Given the description of an element on the screen output the (x, y) to click on. 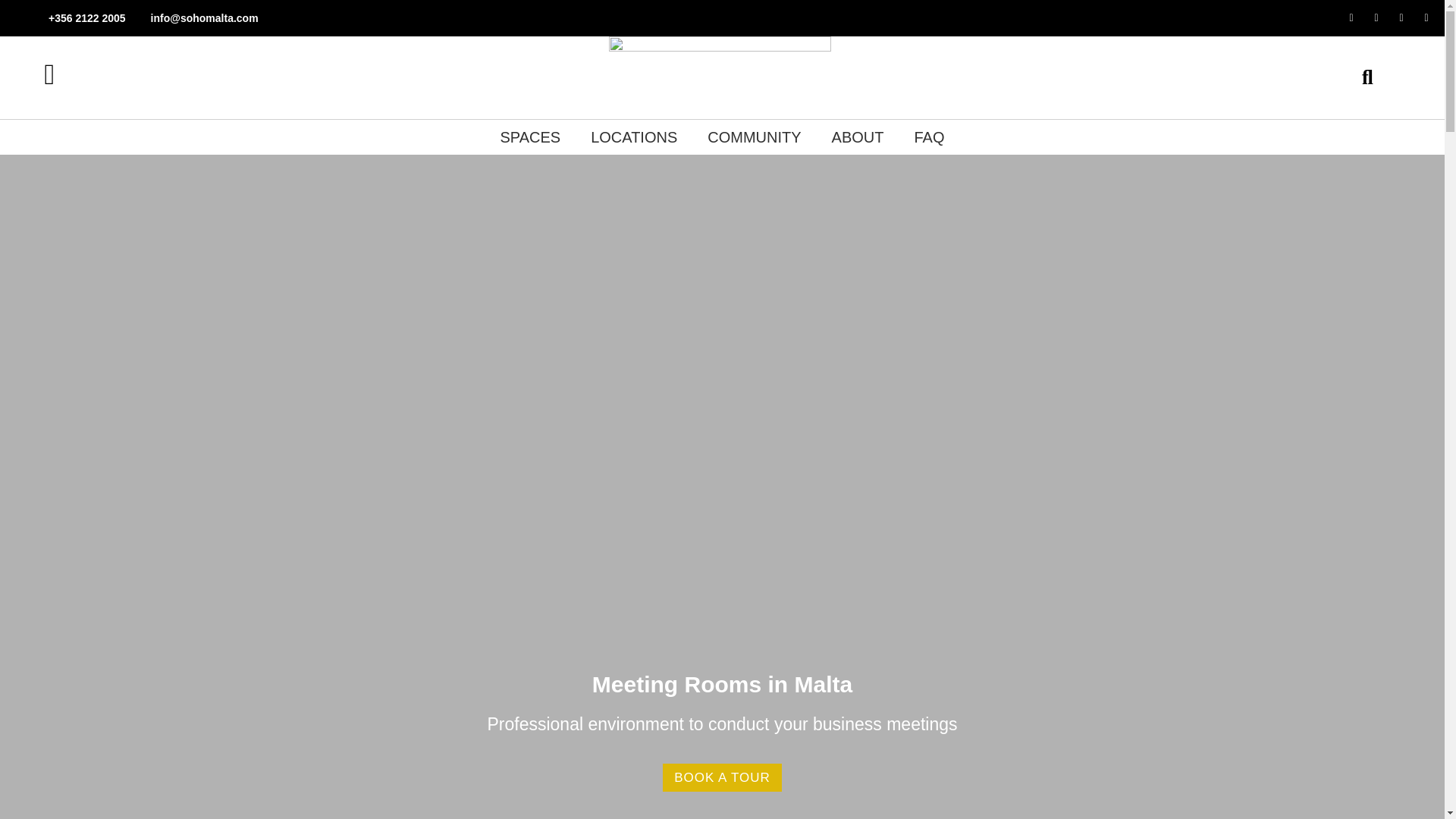
FAQ (928, 136)
ABOUT (857, 136)
SPACES (529, 136)
COMMUNITY (754, 136)
LOCATIONS (634, 136)
